Given the description of an element on the screen output the (x, y) to click on. 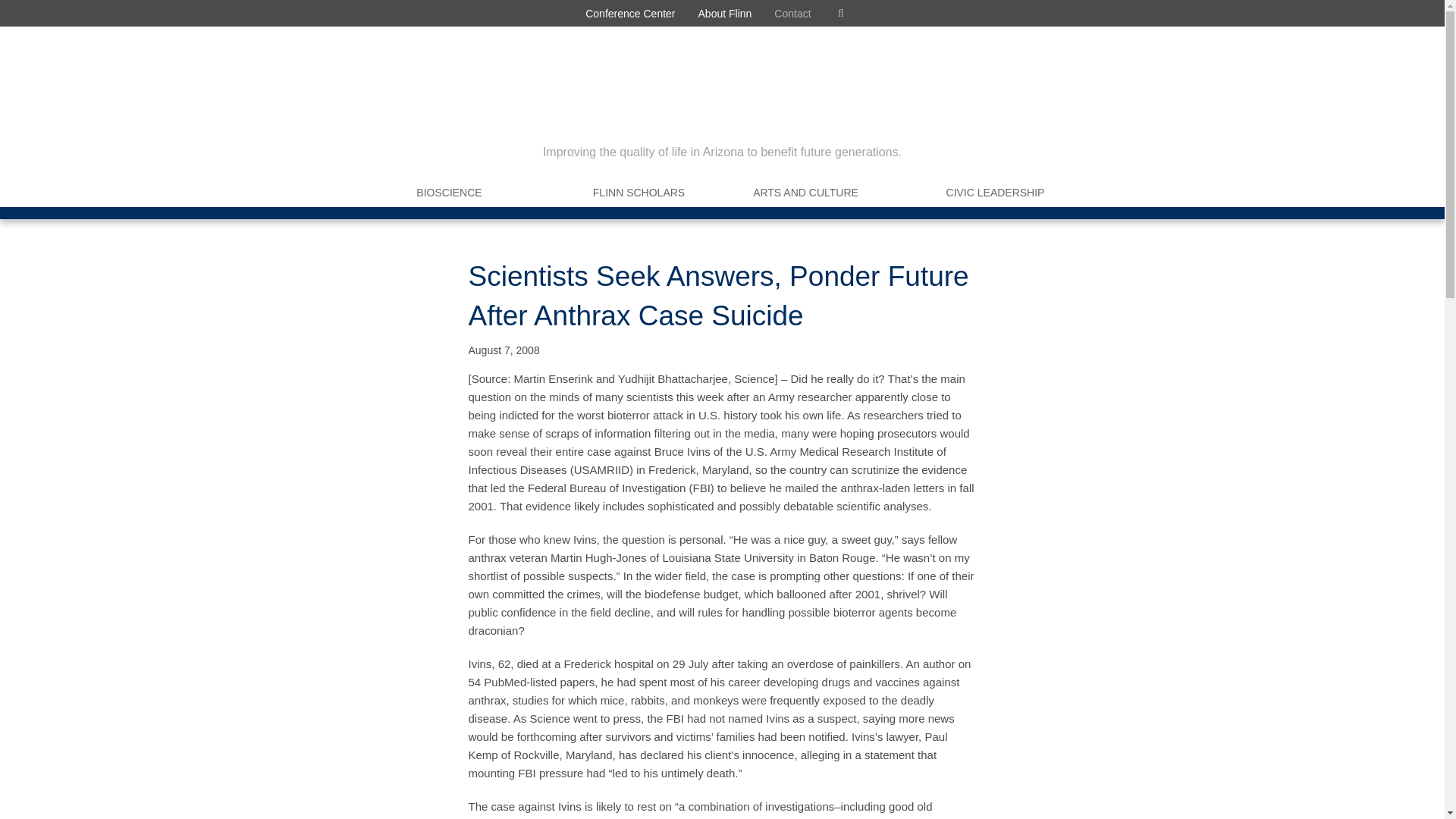
BIOSCIENCE (448, 192)
Conference Center (629, 13)
Contact (792, 13)
About Flinn (724, 13)
